Given the description of an element on the screen output the (x, y) to click on. 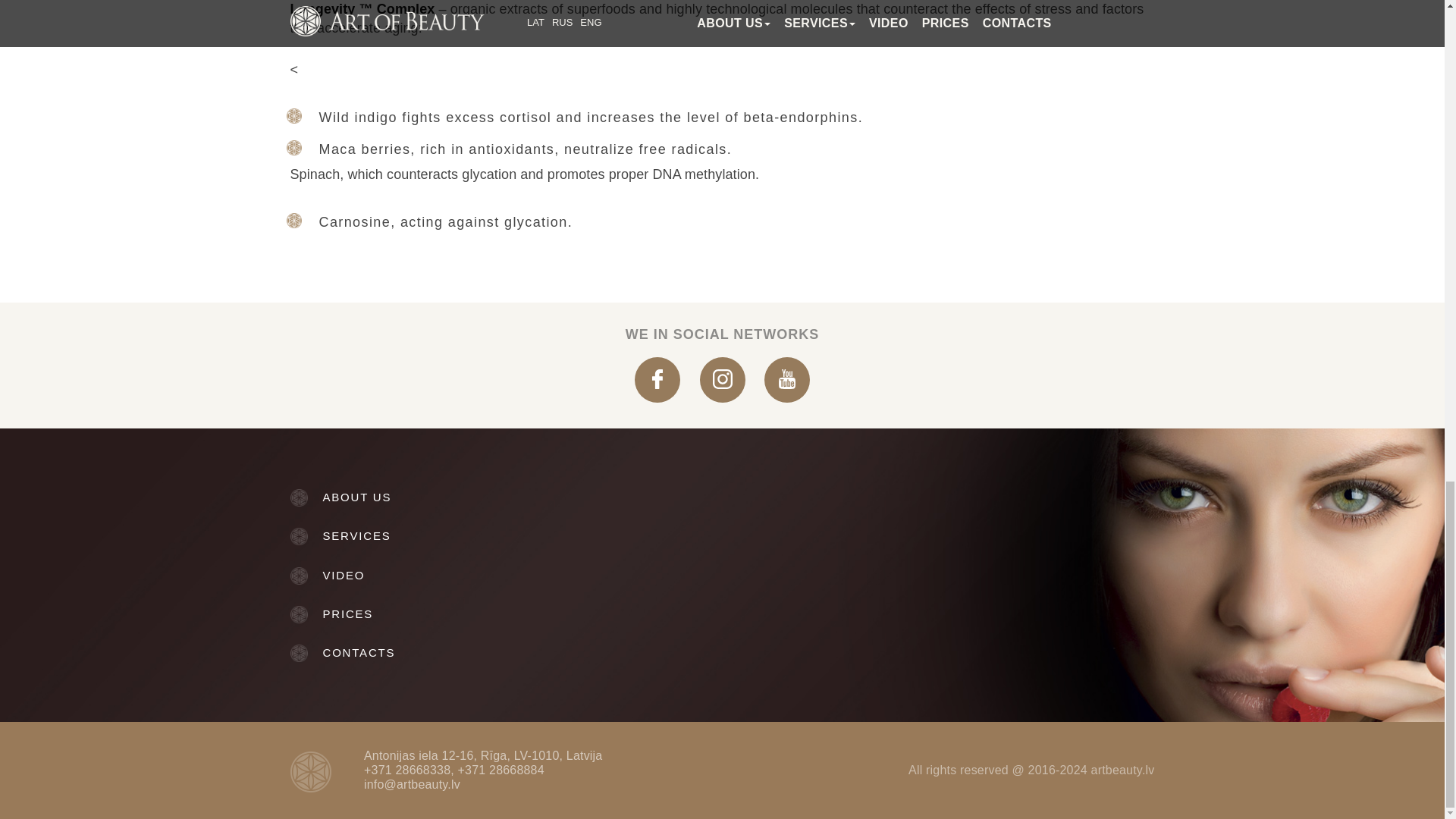
CONTACTS (499, 652)
VIDEO (499, 575)
PRICES (499, 613)
SERVICES (499, 535)
ABOUT US (499, 496)
